Given the description of an element on the screen output the (x, y) to click on. 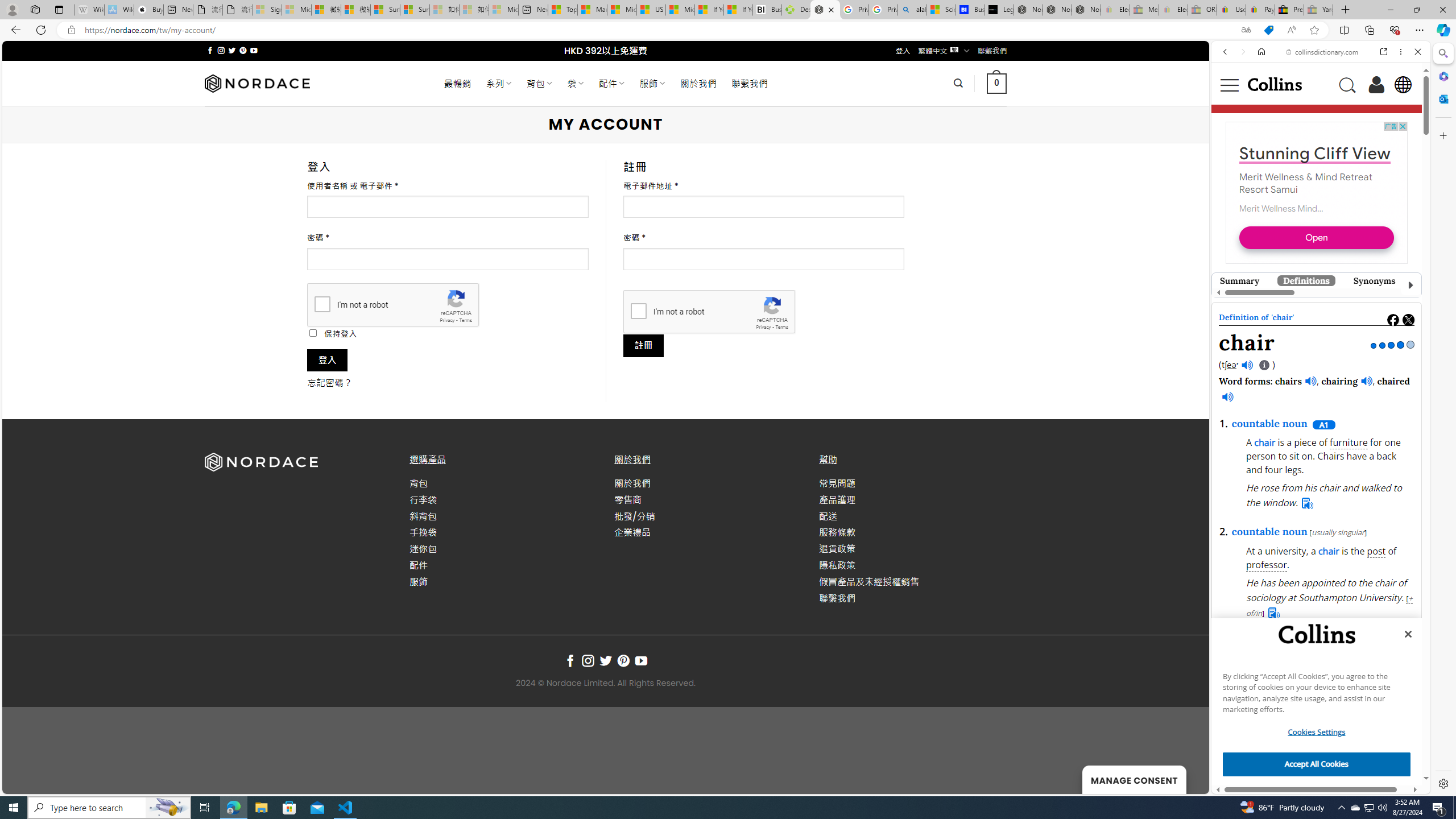
IPA Pronunciation Guide (1264, 365)
Show translate options (1245, 29)
Follow on Instagram (588, 660)
Link for logging (1338, 572)
